Given the description of an element on the screen output the (x, y) to click on. 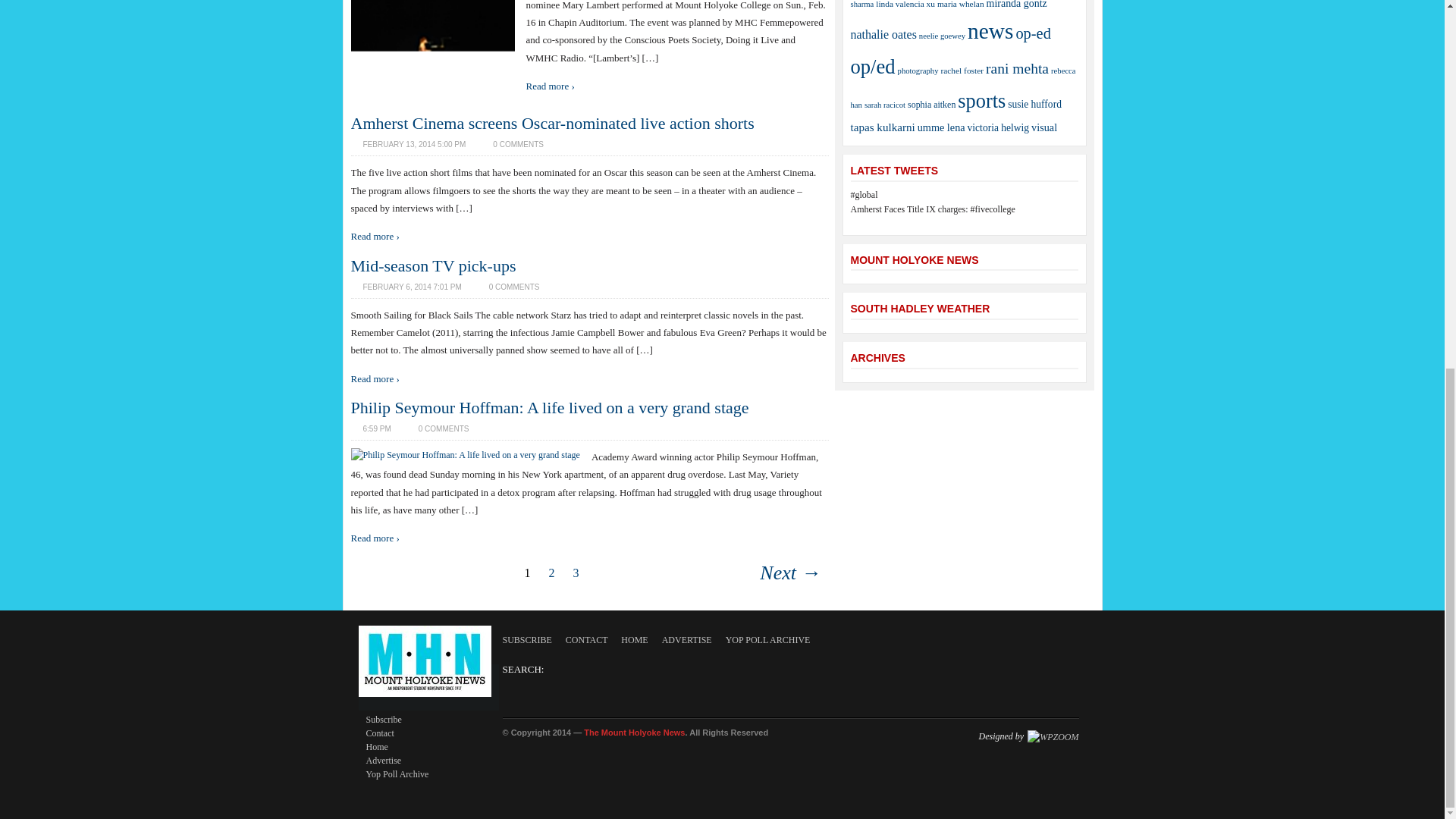
Mary Lambert inspires during MHC performance (431, 95)
Philip Seymour Hoffman: A life lived on a very grand stage (464, 454)
Permanent Link to Mid-season TV pick-ups (432, 265)
0 COMMENTS (511, 144)
Mid-season TV pick-ups (432, 265)
Amherst Cinema screens Oscar-nominated live action shorts (552, 122)
Comment on Mid-season TV pick-ups (508, 286)
